Given the description of an element on the screen output the (x, y) to click on. 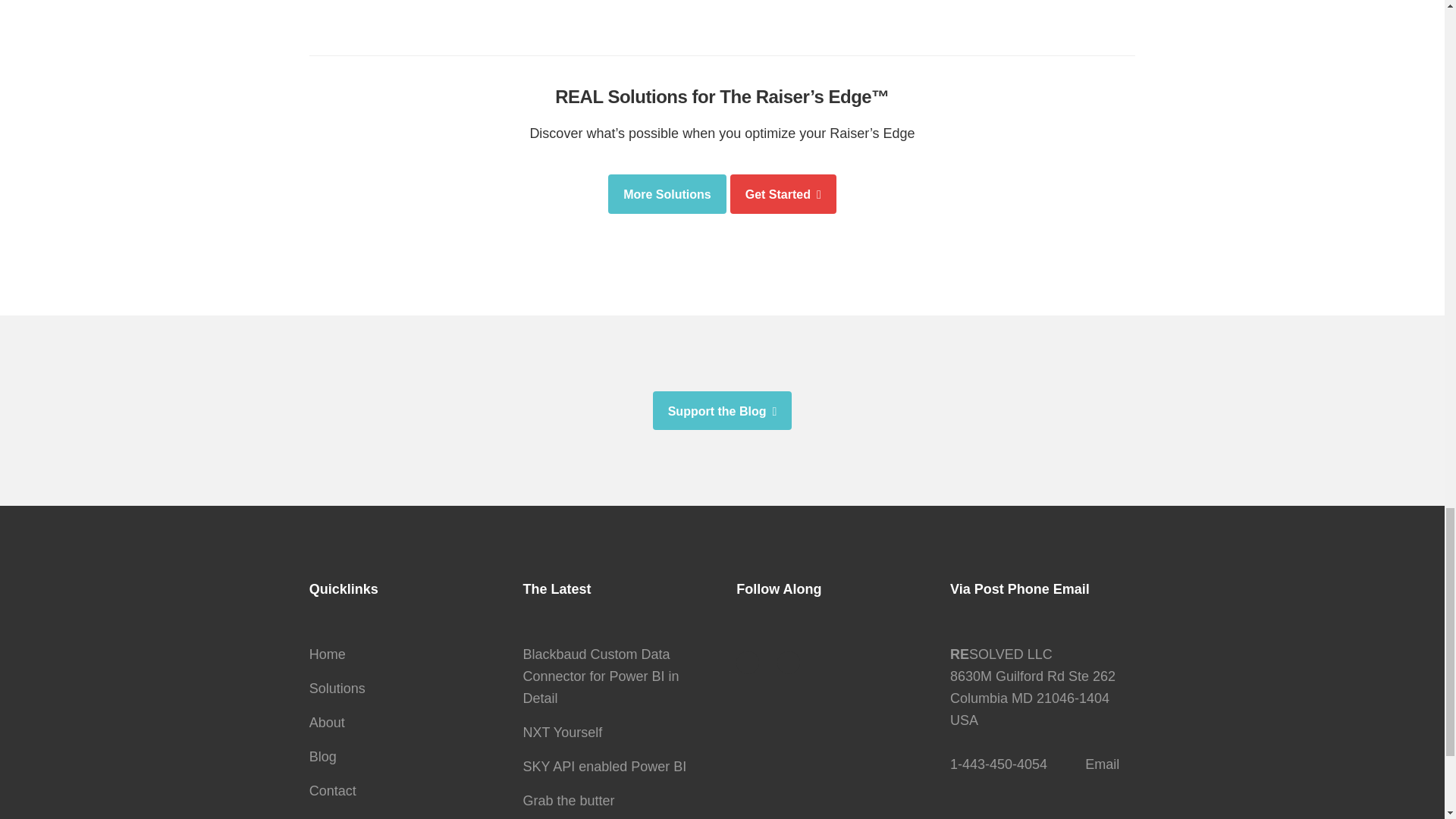
About (326, 722)
SKY API enabled Power BI (604, 766)
More Solutions (667, 193)
NXT Yourself (562, 732)
Get Started (782, 193)
1-443-450-4054 (998, 764)
Support the Blog (722, 410)
Solutions (336, 688)
Contact (332, 790)
